Given the description of an element on the screen output the (x, y) to click on. 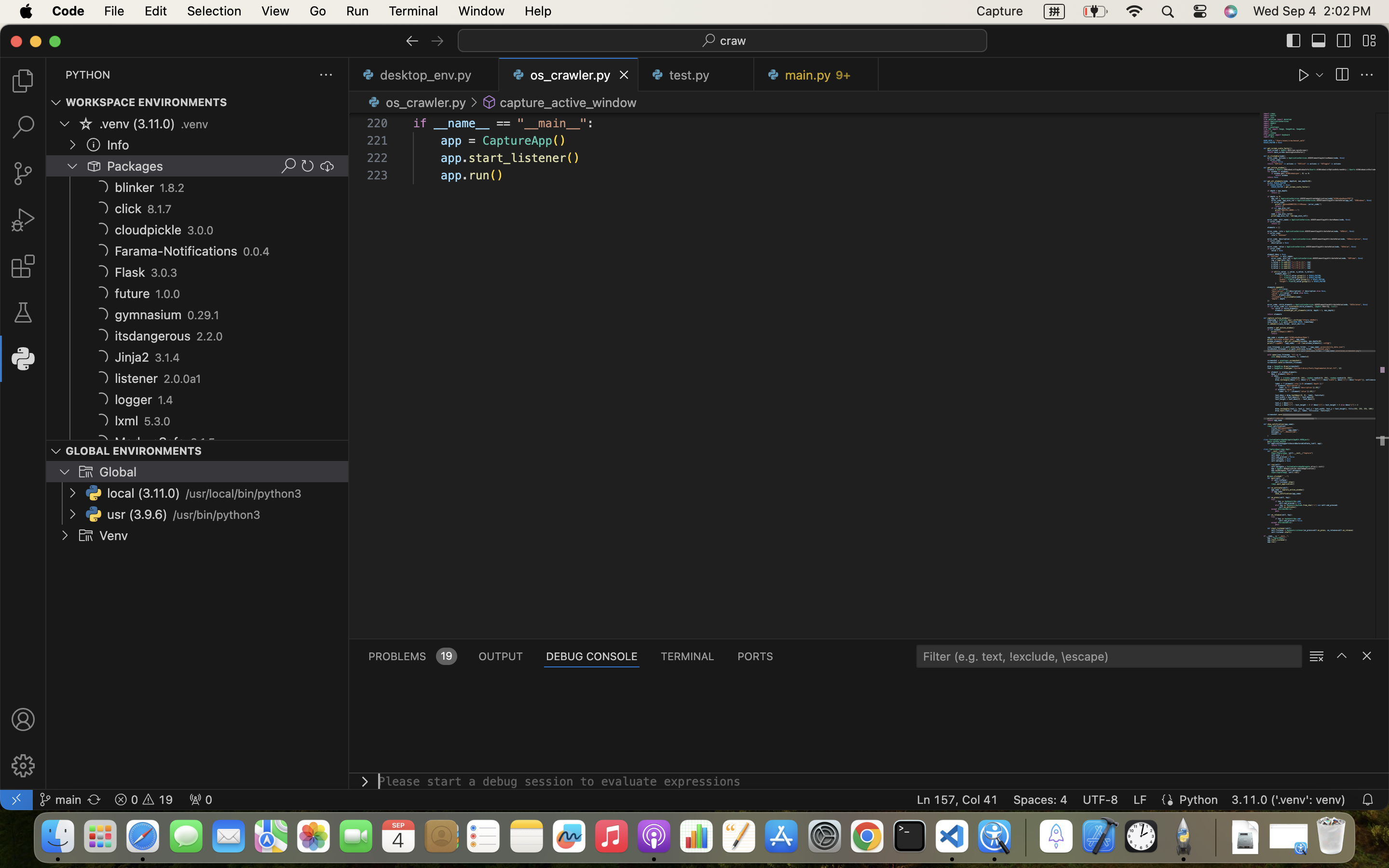
8.1.7 Element type: AXStaticText (159, 209)
/usr/local/bin/python3 Element type: AXStaticText (243, 493)
0 PROBLEMS 19 Element type: AXRadioButton (411, 655)
Jinja2 Element type: AXStaticText (131, 357)
0.29.1 Element type: AXStaticText (203, 315)
